Given the description of an element on the screen output the (x, y) to click on. 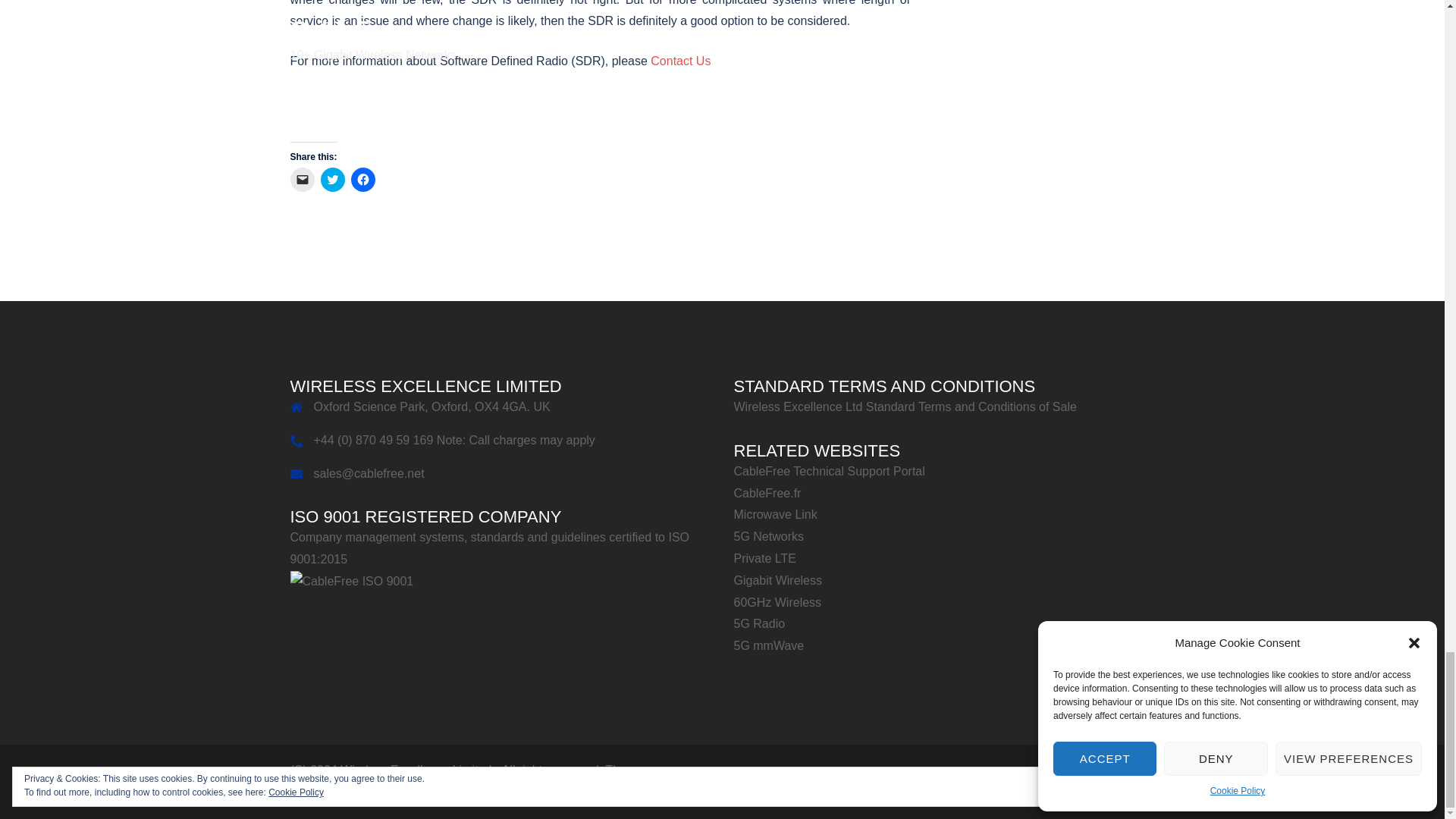
Contact (680, 60)
Click to share on Facebook (362, 179)
Click to email a link to a friend (301, 179)
Click to share on Twitter (331, 179)
